Given the description of an element on the screen output the (x, y) to click on. 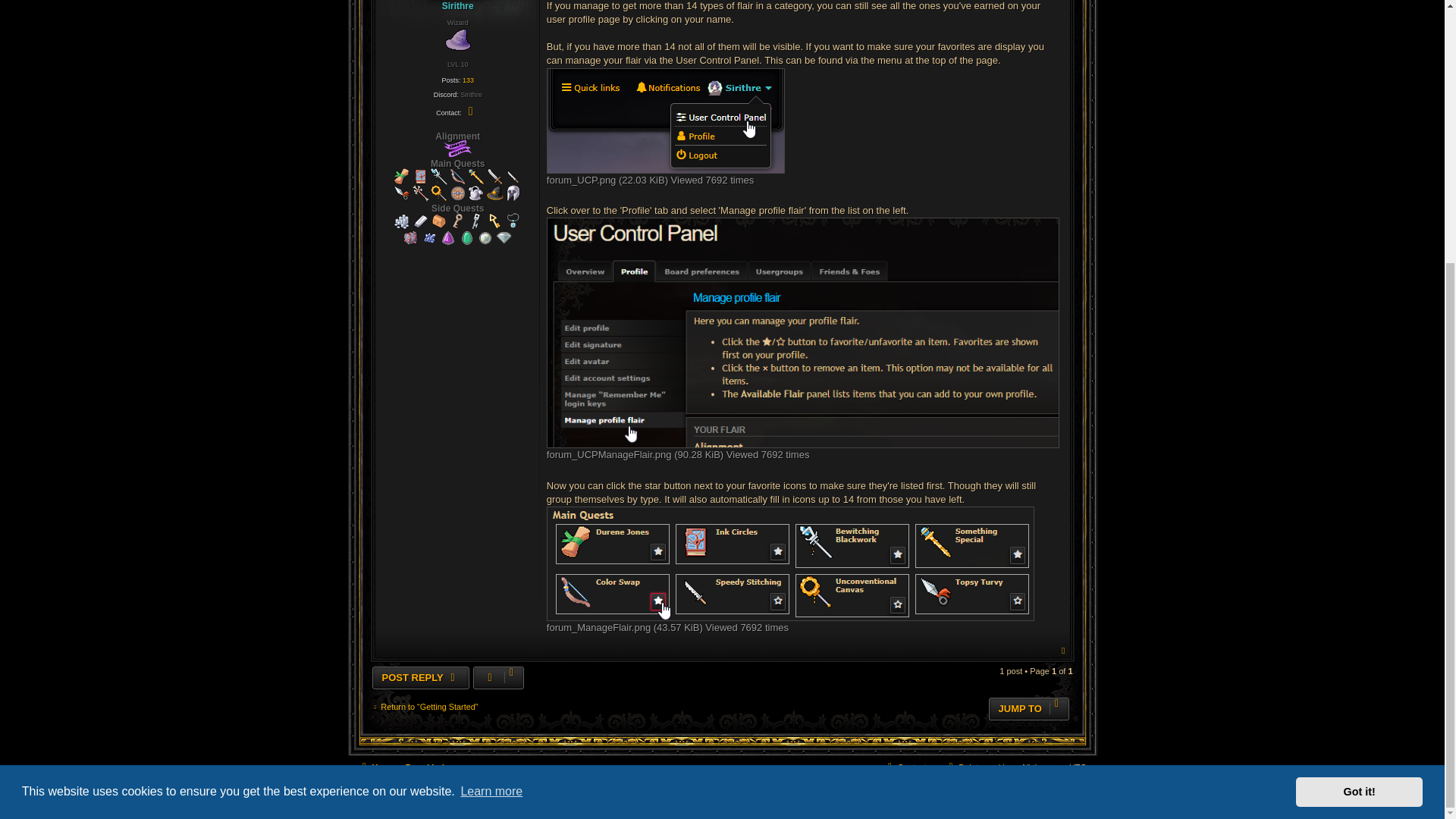
Sirithre (458, 5)
Learn more (491, 412)
133 (468, 80)
Contact Sirithre (471, 111)
Got it! (1358, 412)
